Given the description of an element on the screen output the (x, y) to click on. 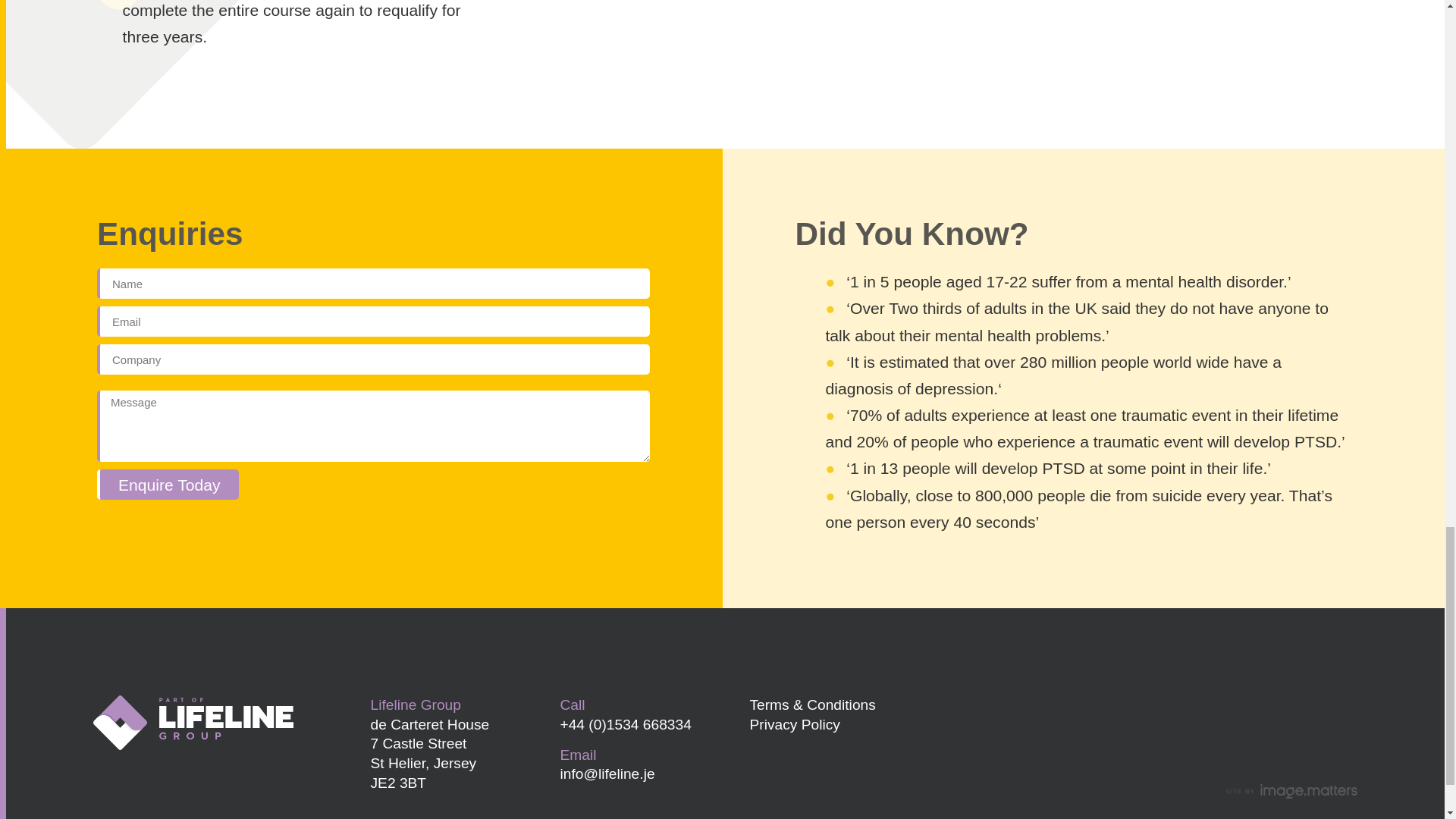
Enquire Today (167, 484)
